Given the description of an element on the screen output the (x, y) to click on. 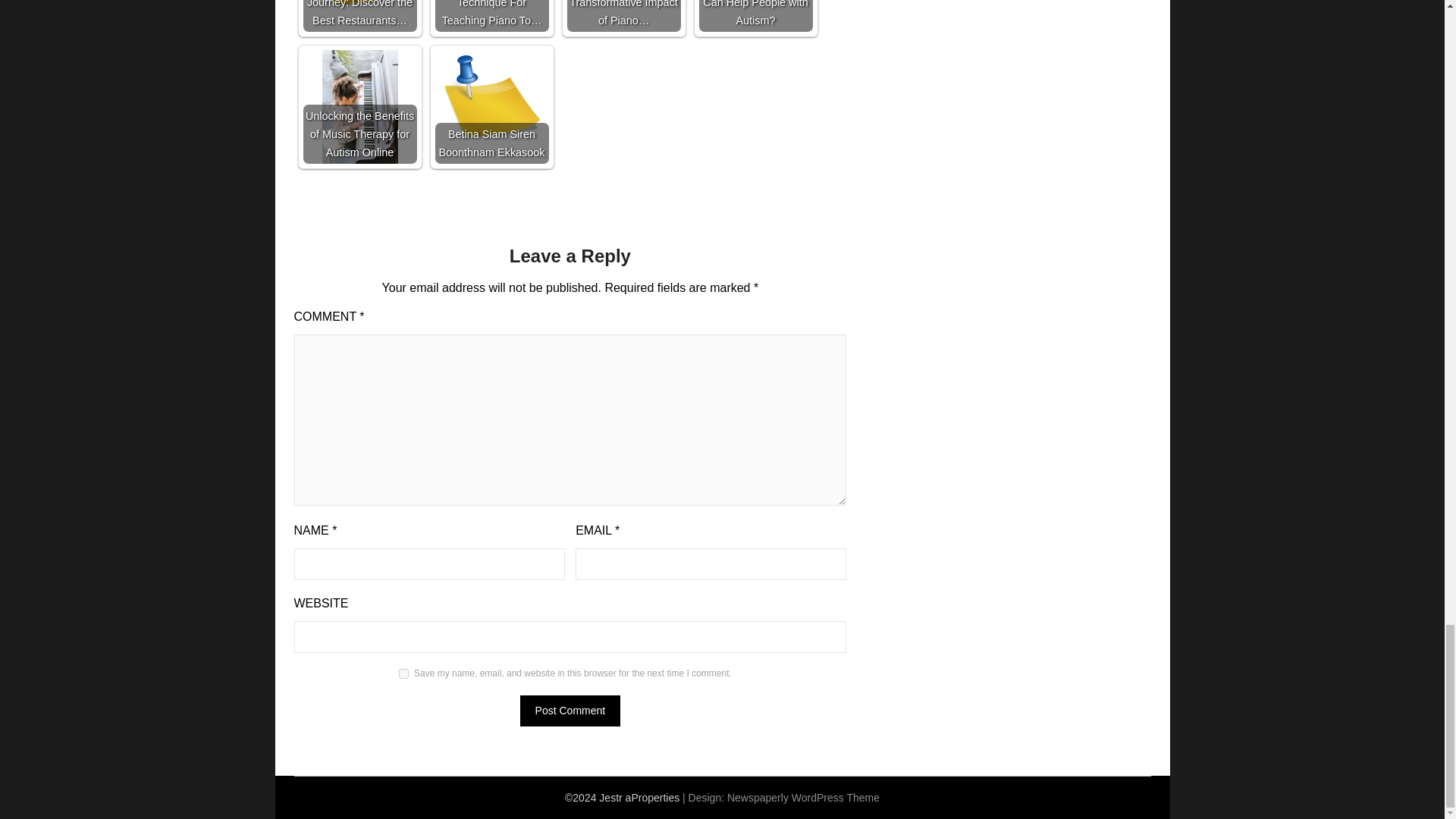
How Music Therapy Can Help People with Autism? (755, 15)
yes (403, 673)
Post Comment (570, 710)
Post Comment (570, 710)
Unlocking the Benefits of Music Therapy for Autism Online (359, 106)
Betina Siam Siren Boonthnam Ekkasook (491, 106)
Betina Siam Siren Boonthnam Ekkasook (491, 106)
